Given the description of an element on the screen output the (x, y) to click on. 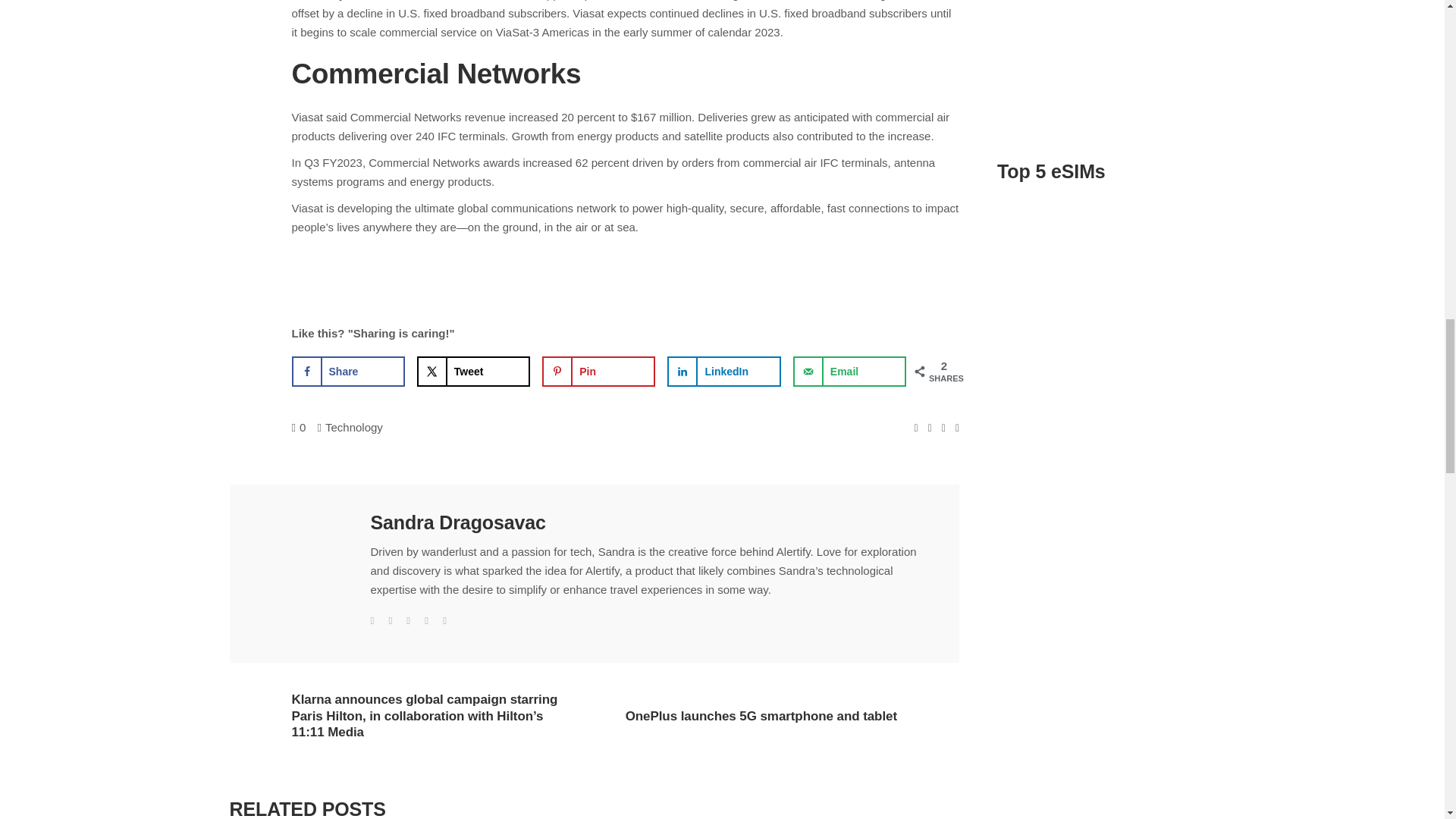
Send over email (849, 371)
Share on LinkedIn (723, 371)
Share on X (472, 371)
Save to Pinterest (598, 371)
Like this (298, 427)
Share on Facebook (347, 371)
